Given the description of an element on the screen output the (x, y) to click on. 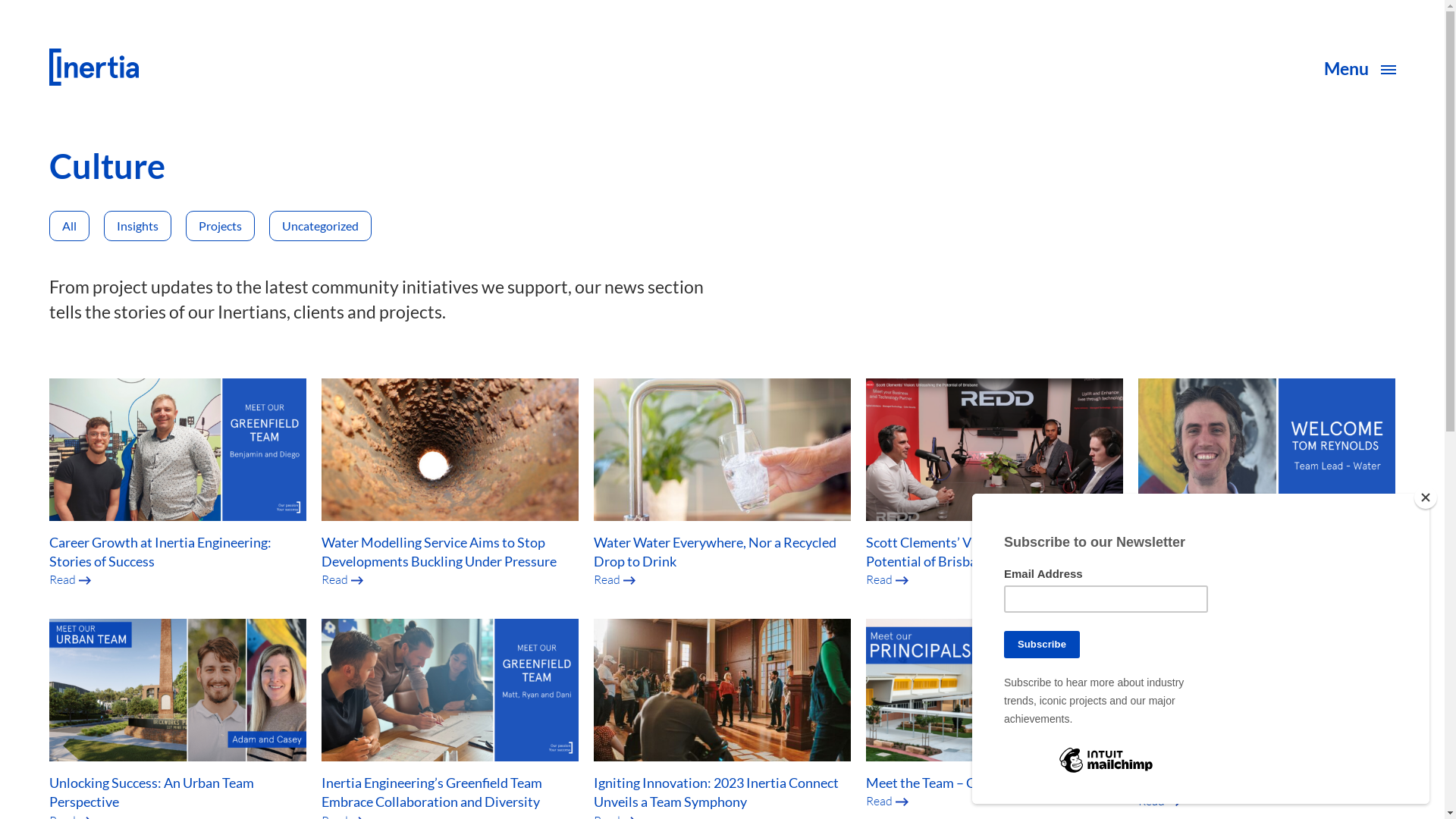
Read Element type: text (614, 578)
Uncategorized Element type: text (319, 225)
Read Element type: text (69, 578)
Read Element type: text (342, 578)
Read Element type: text (1159, 559)
Career Growth at Inertia Engineering: Stories of Success Element type: text (159, 551)
Unlocking Success: An Urban Team Perspective Element type: text (150, 791)
Water Water Everywhere, Nor a Recycled Drop to Drink Element type: text (714, 551)
Read Element type: text (1159, 800)
Projects Element type: text (219, 225)
Insights Element type: text (136, 225)
Welcoming Tom Reynolds Element type: text (1214, 541)
Read Element type: text (887, 800)
Read Element type: text (887, 578)
Birthday Munch Celebrations Element type: text (1225, 782)
All Element type: text (68, 225)
